Given the description of an element on the screen output the (x, y) to click on. 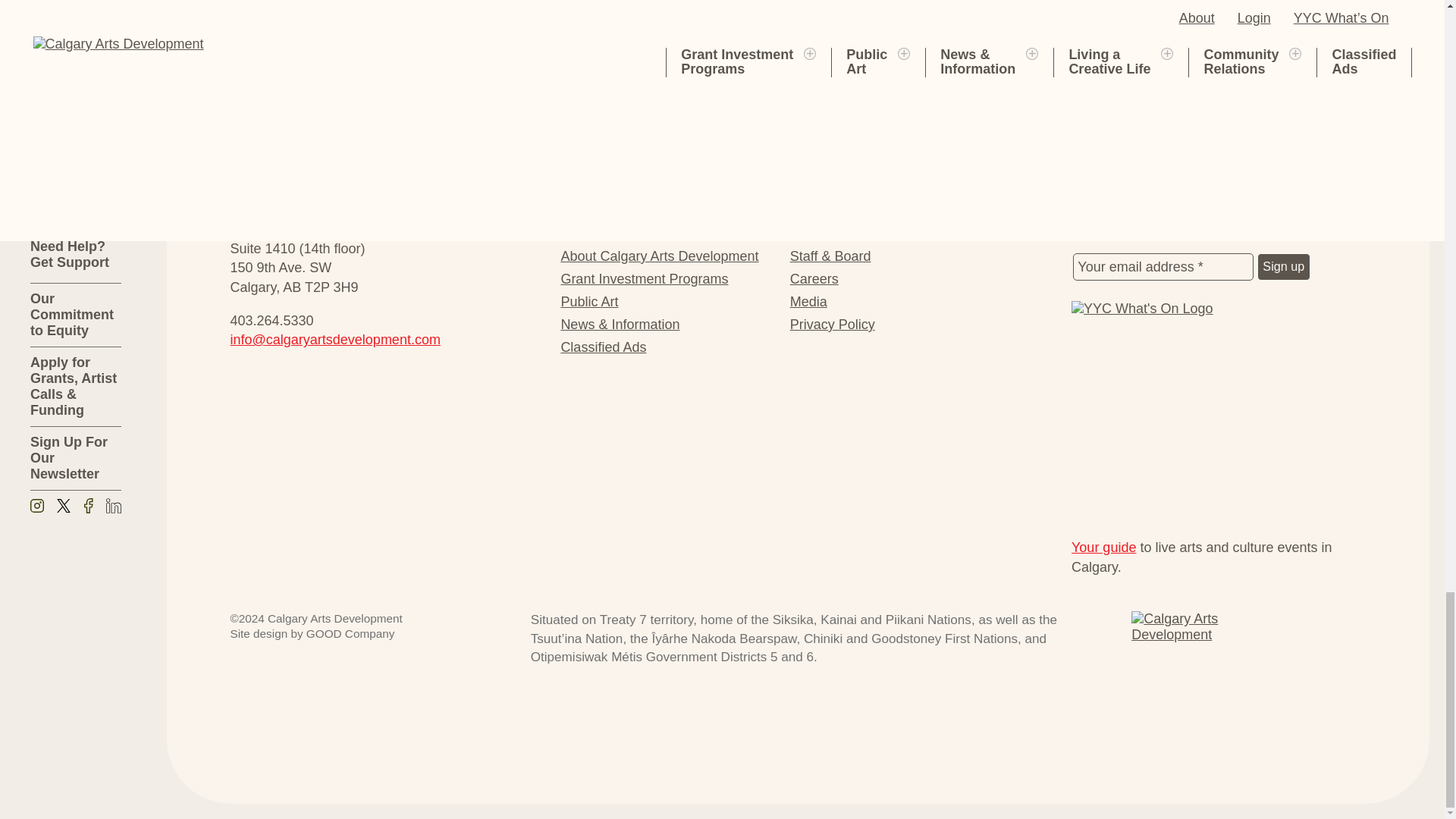
YYC What's On (1219, 414)
